Given the description of an element on the screen output the (x, y) to click on. 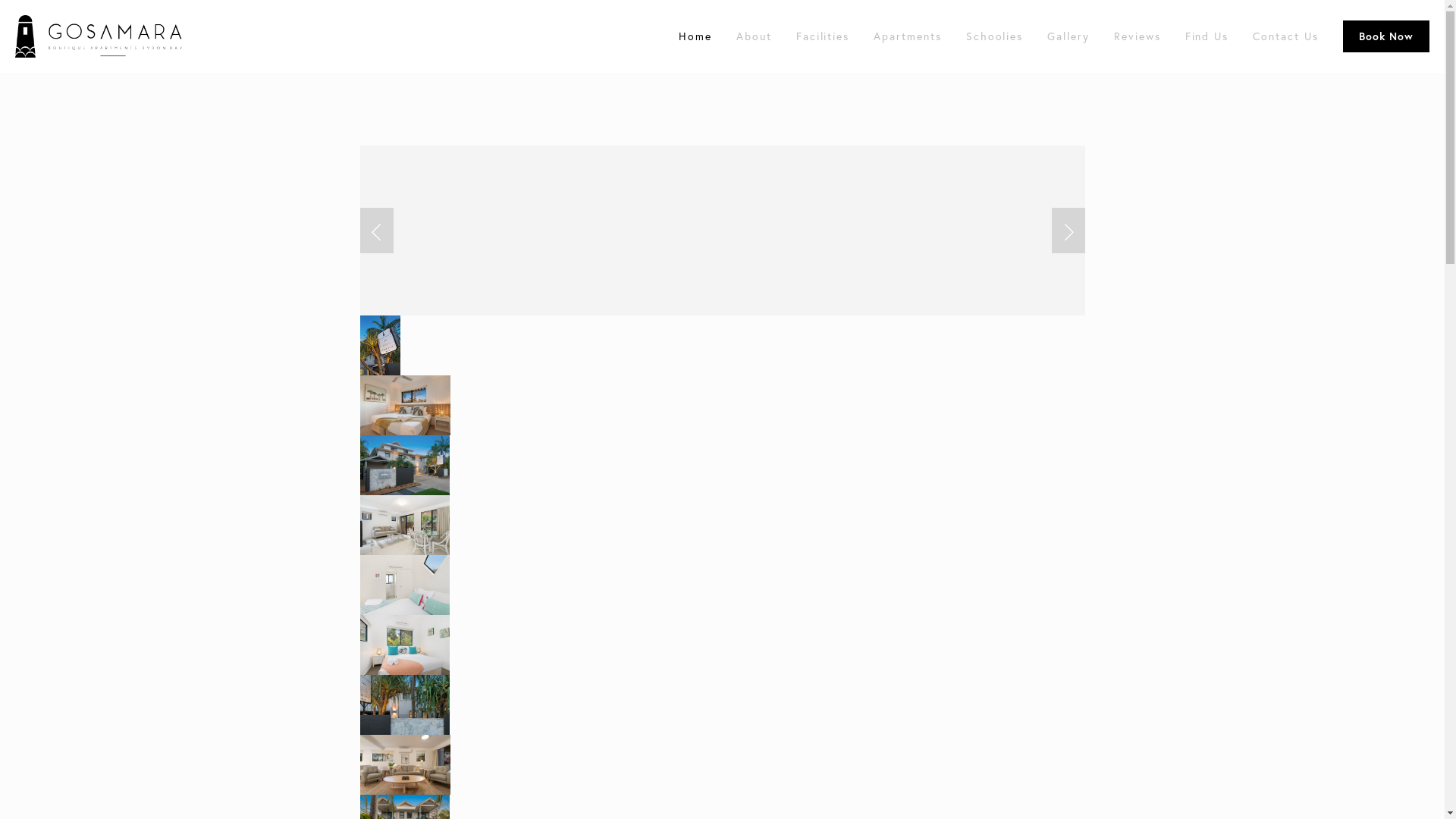
Book Now Element type: text (1386, 36)
Reviews Element type: text (1137, 36)
About Element type: text (753, 36)
Contact Us Element type: text (1285, 36)
Home Element type: text (695, 36)
Apartments Element type: text (907, 36)
Find Us Element type: text (1206, 36)
Facilities Element type: text (822, 36)
Gallery Element type: text (1068, 36)
Schoolies Element type: text (994, 36)
